Given the description of an element on the screen output the (x, y) to click on. 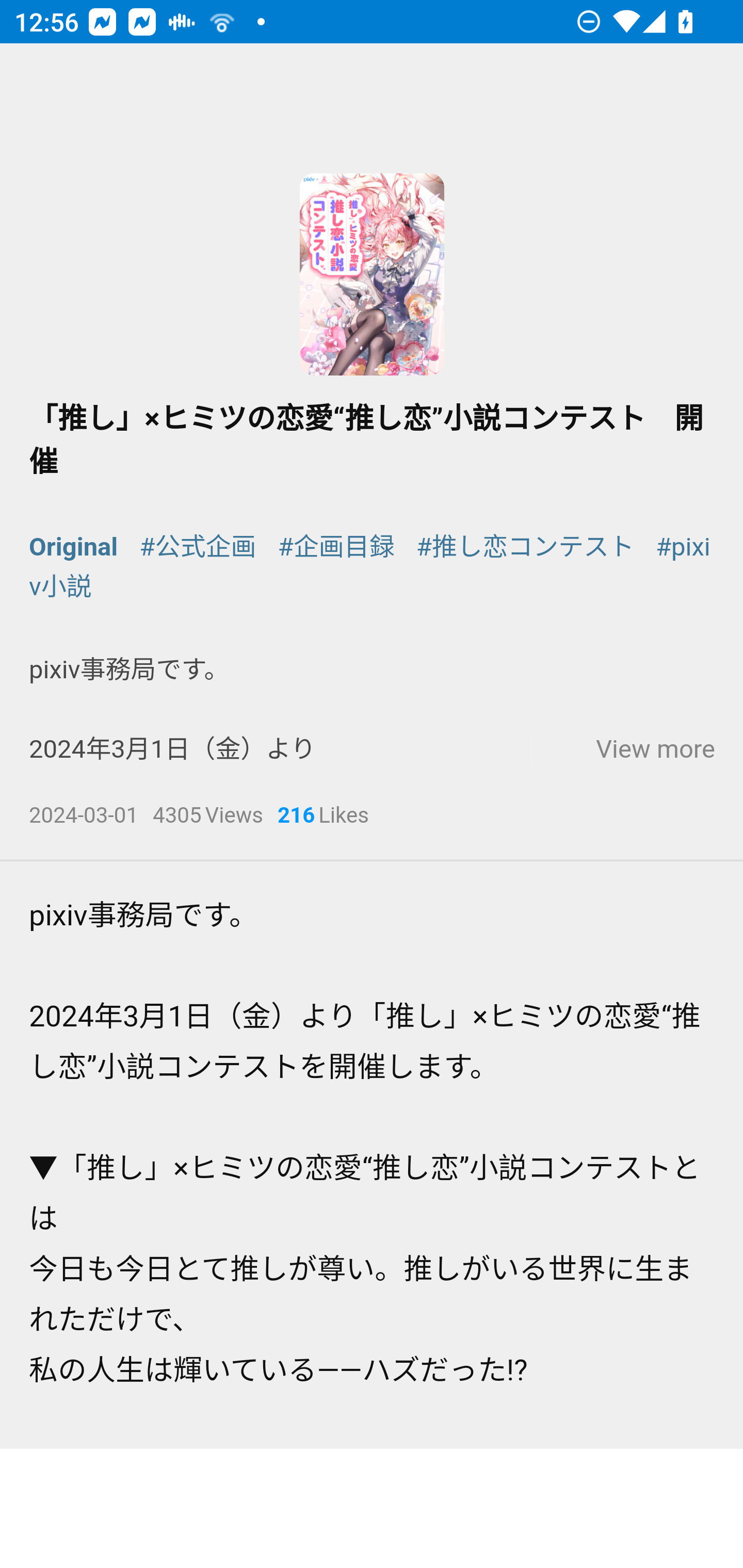
Original (73, 545)
#pixiv小説 (369, 566)
#公式企画 (197, 545)
#企画目録 (335, 545)
#推し恋コンテスト (525, 545)
View more (654, 749)
216Likes (323, 816)
